Given the description of an element on the screen output the (x, y) to click on. 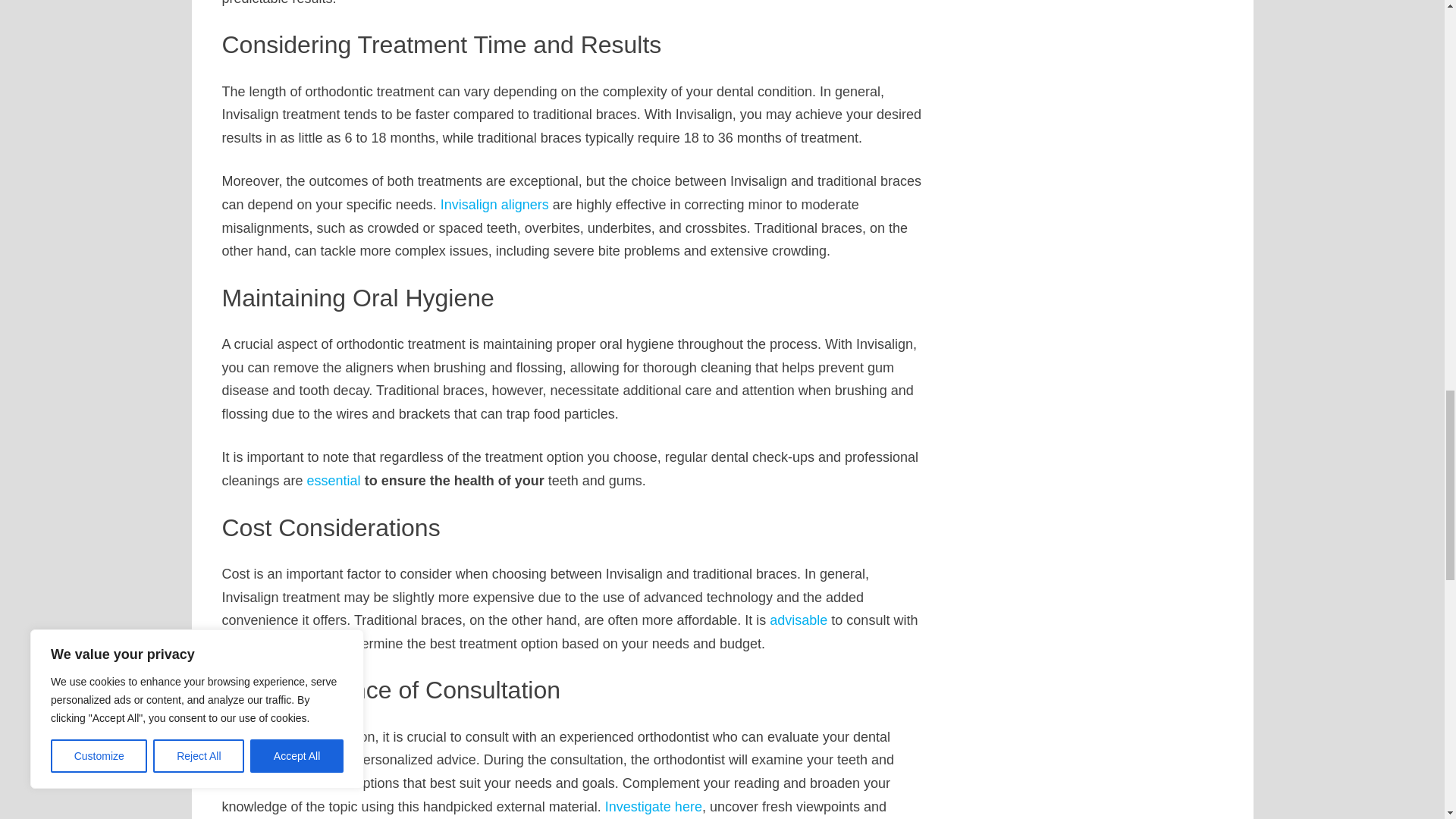
advisable (798, 620)
Investigate here (653, 806)
essential (334, 480)
Invisalign aligners (494, 204)
